Given the description of an element on the screen output the (x, y) to click on. 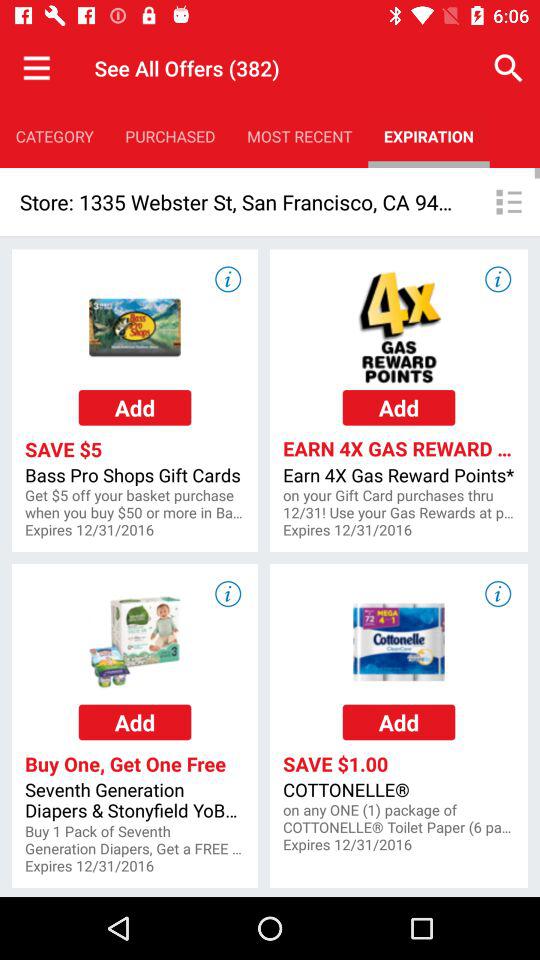
select store 1335 webster item (237, 201)
